Given the description of an element on the screen output the (x, y) to click on. 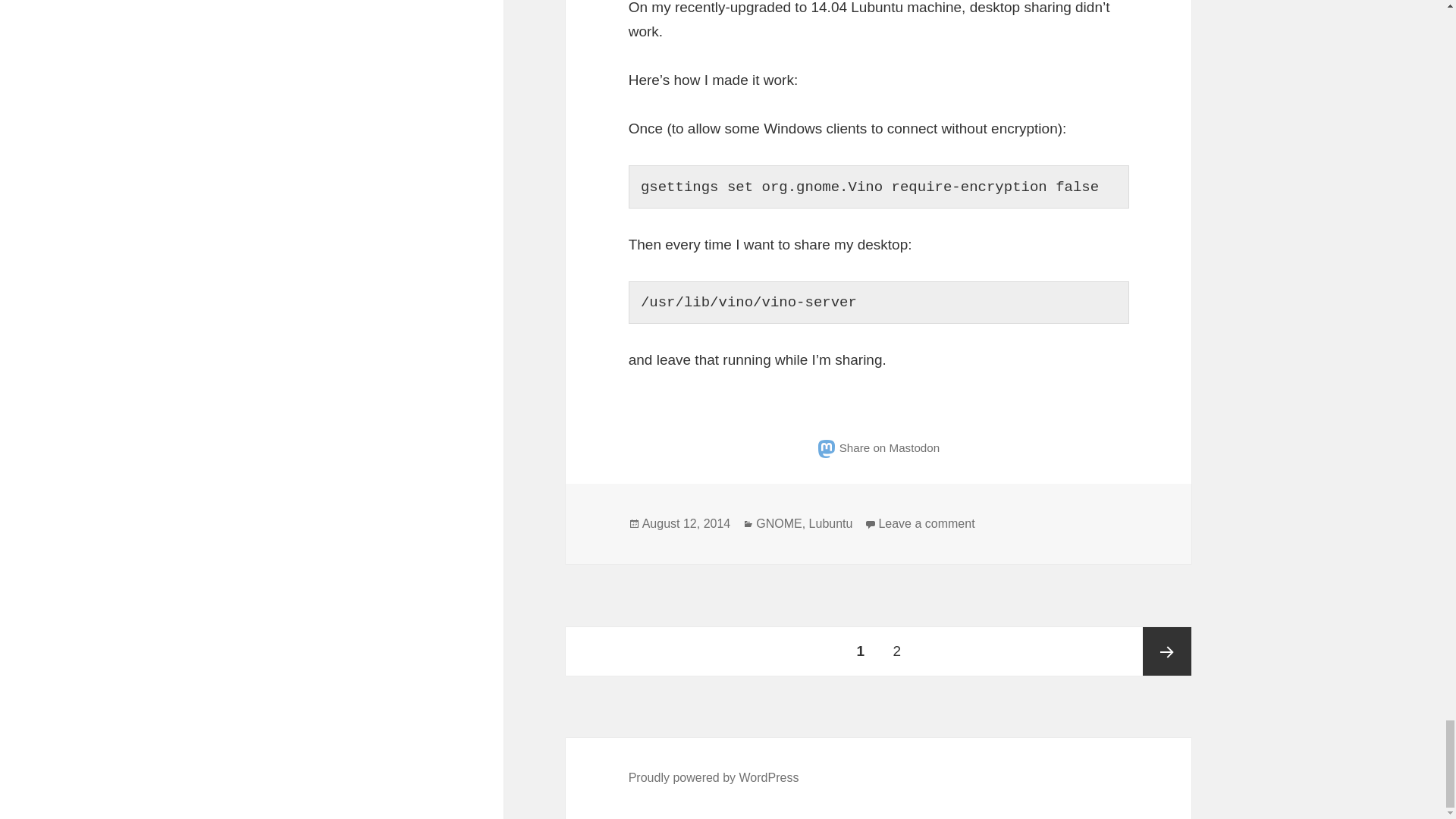
Toot on Mastodon (877, 447)
